Given the description of an element on the screen output the (x, y) to click on. 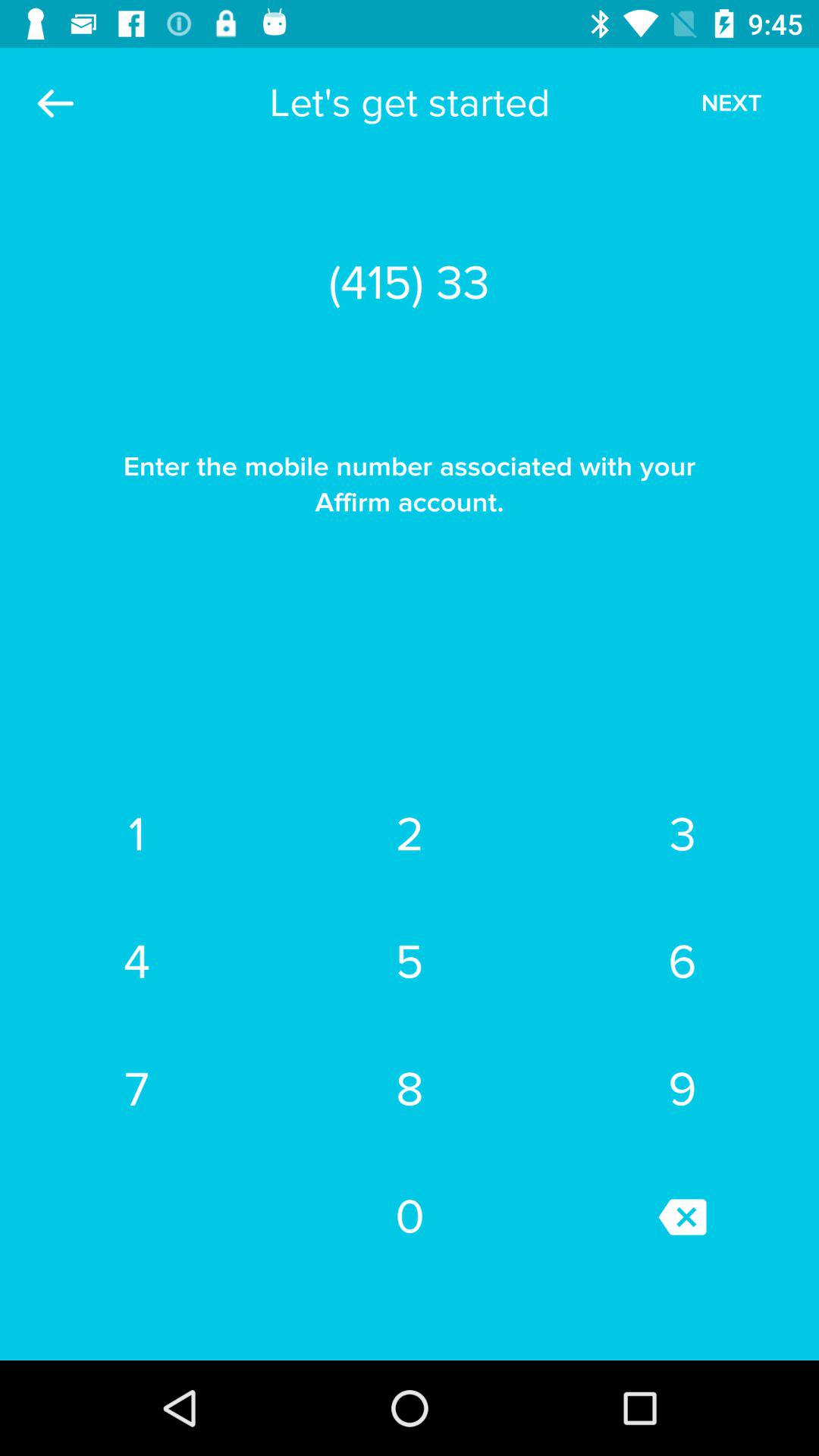
click the item below the enter the mobile (136, 834)
